Given the description of an element on the screen output the (x, y) to click on. 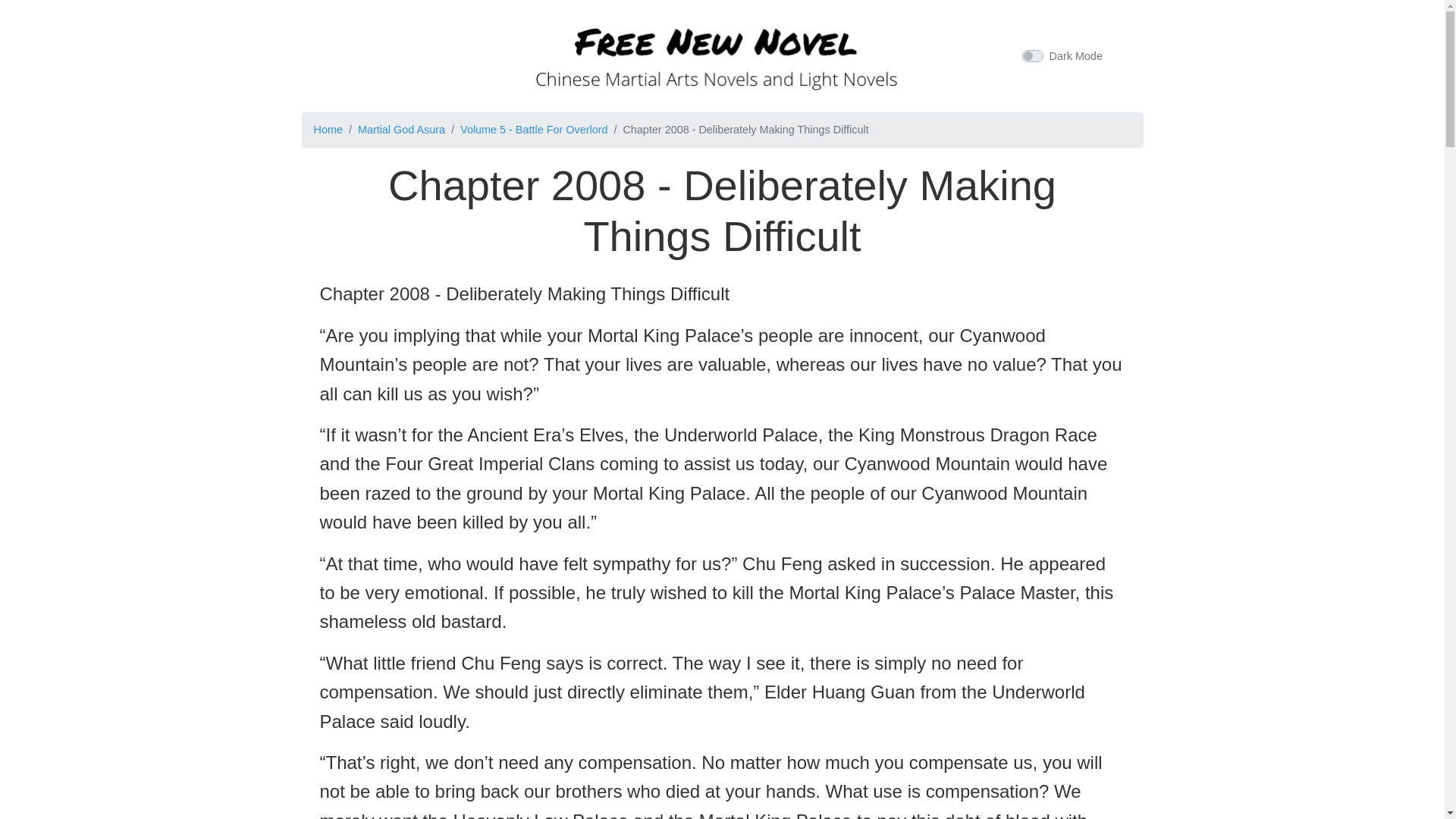
Free Novel Online (716, 53)
Home (328, 129)
Martial God Asura (401, 129)
Volume 5 - Battle For Overlord (533, 129)
